Given the description of an element on the screen output the (x, y) to click on. 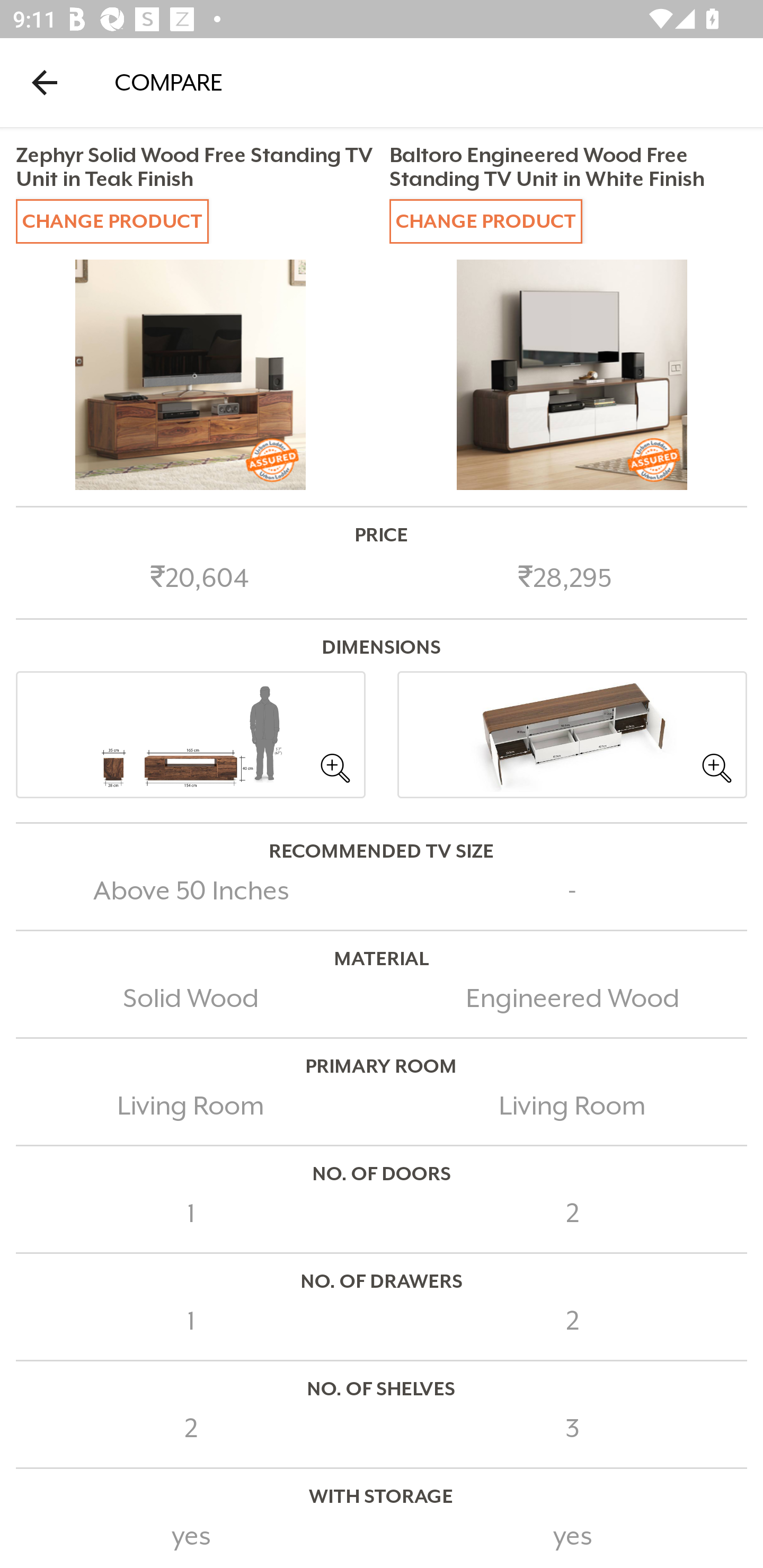
Navigate up (44, 82)
CHANGE PRODUCT (112, 221)
CHANGE PRODUCT (485, 221)
